Given the description of an element on the screen output the (x, y) to click on. 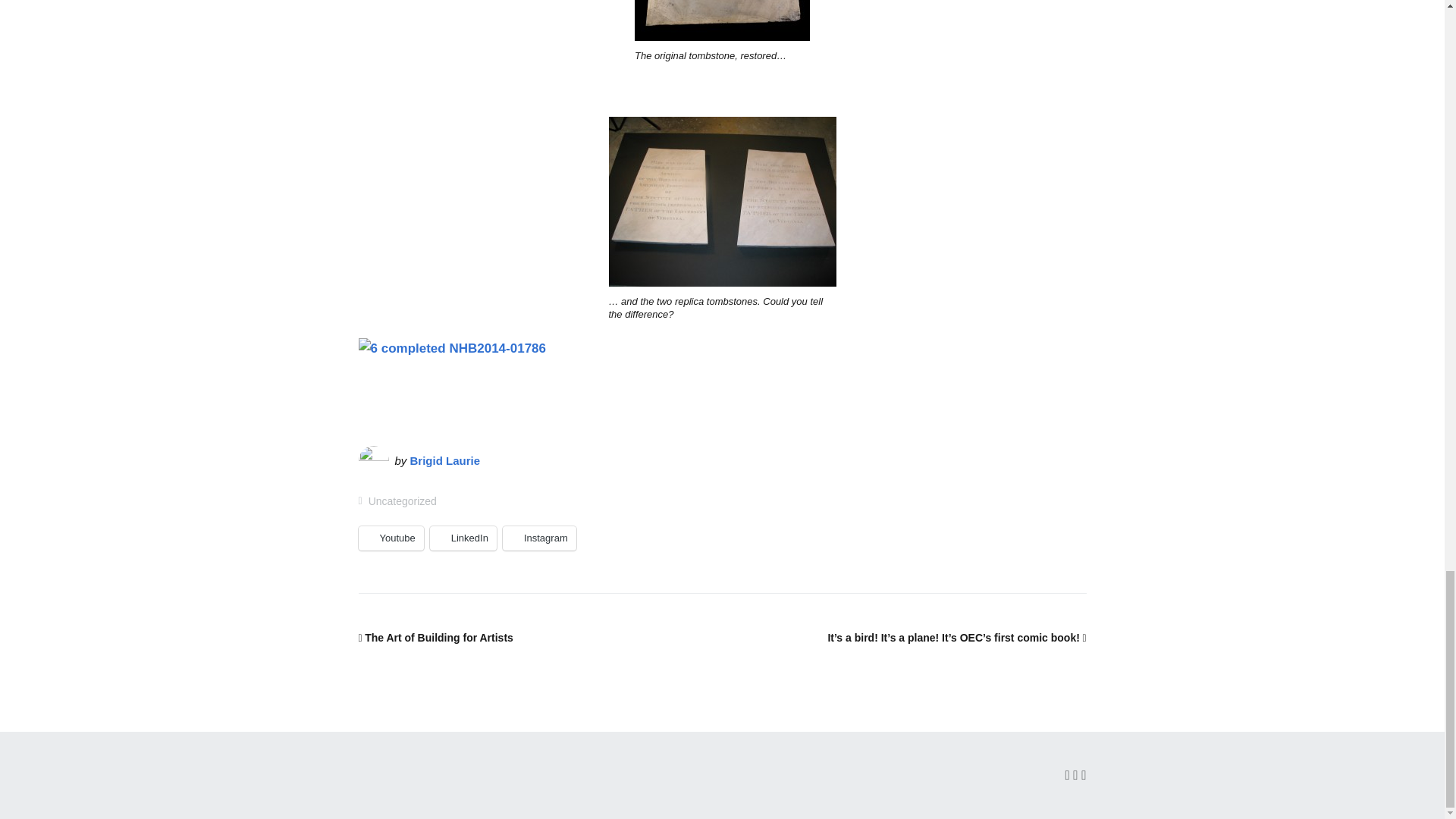
Instagram (539, 538)
LinkedIn (462, 538)
Click to share on Youtube (390, 538)
The Art of Building for Artists (435, 637)
Brigid Laurie (445, 460)
Youtube (390, 538)
Click to share on LinkedIn (462, 538)
Uncategorized (402, 500)
Click to share on Instagram (539, 538)
